Given the description of an element on the screen output the (x, y) to click on. 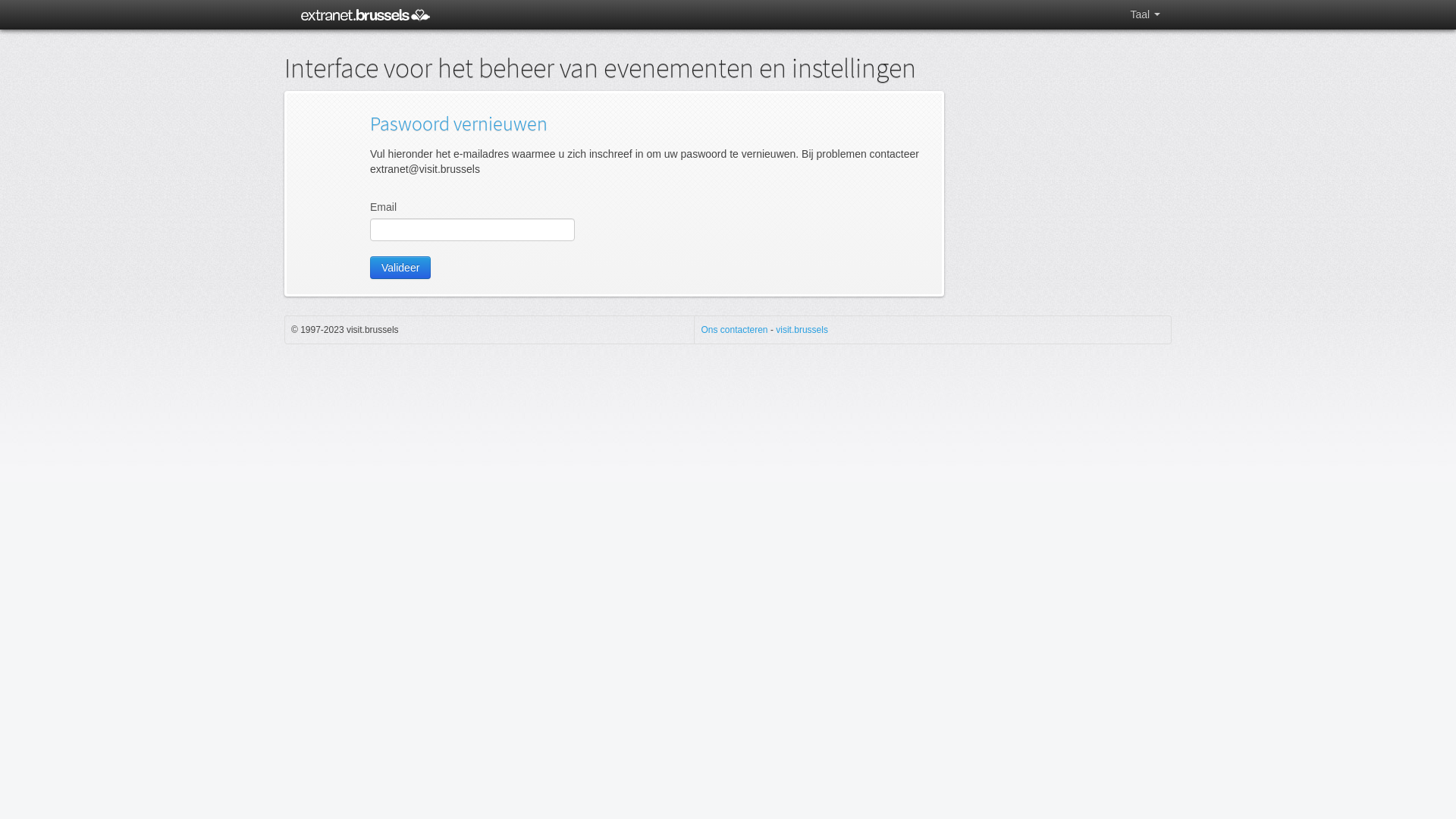
visit.brussels Element type: text (801, 329)
Taal Element type: text (1144, 14)
Ons contacteren Element type: text (733, 329)
Valideer Element type: text (400, 267)
